Given the description of an element on the screen output the (x, y) to click on. 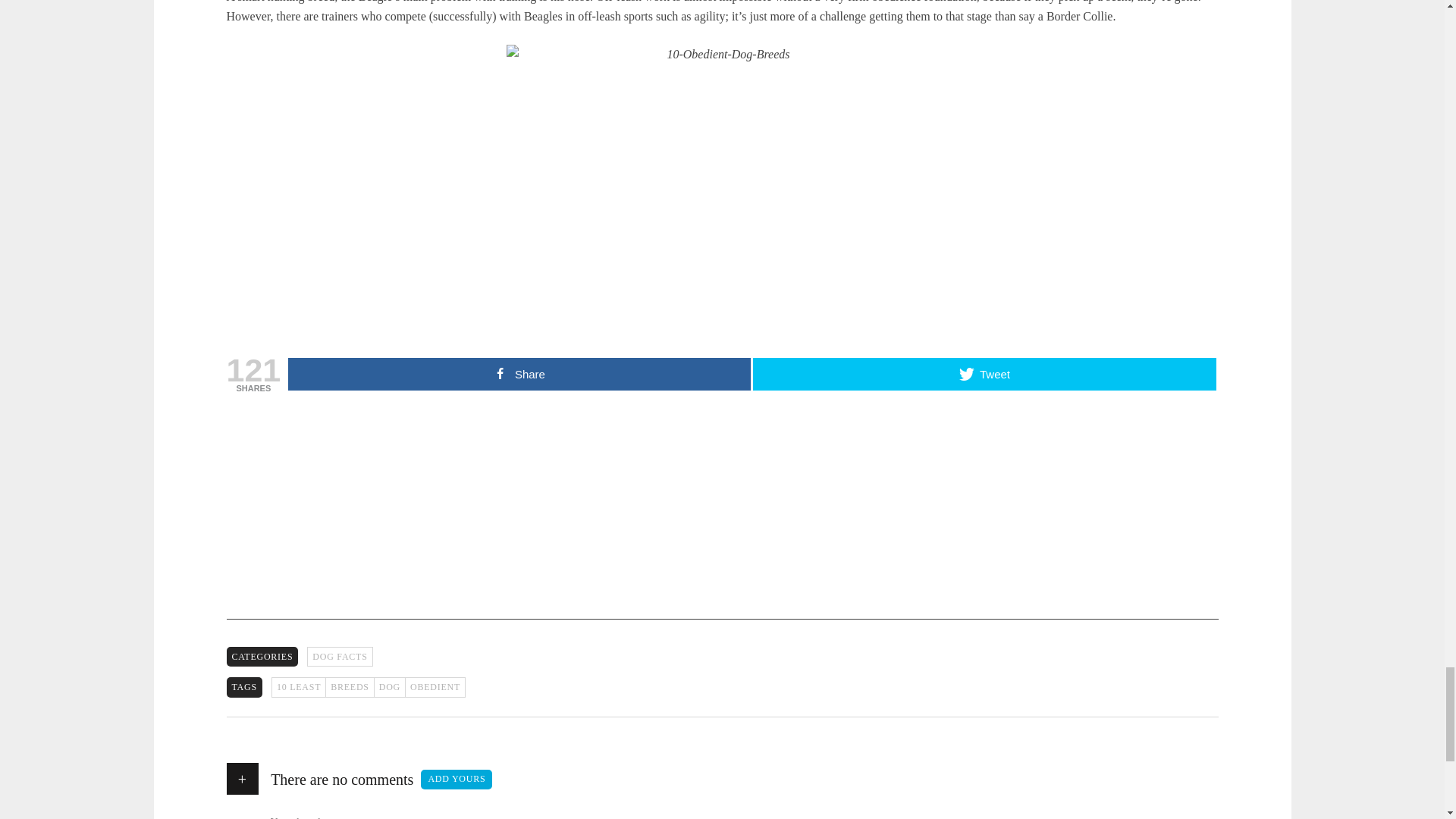
View all posts tagged Dog (389, 686)
View all posts tagged Obedient (434, 686)
View all posts tagged 10 Least (297, 686)
Tweet (983, 373)
DOG (389, 686)
View all posts tagged Breeds (349, 686)
BREEDS (349, 686)
10 LEAST (297, 686)
OBEDIENT (434, 686)
DOG FACTS (339, 656)
Share (519, 373)
View all posts in Dog Facts (339, 656)
ADD YOURS (456, 779)
